Given the description of an element on the screen output the (x, y) to click on. 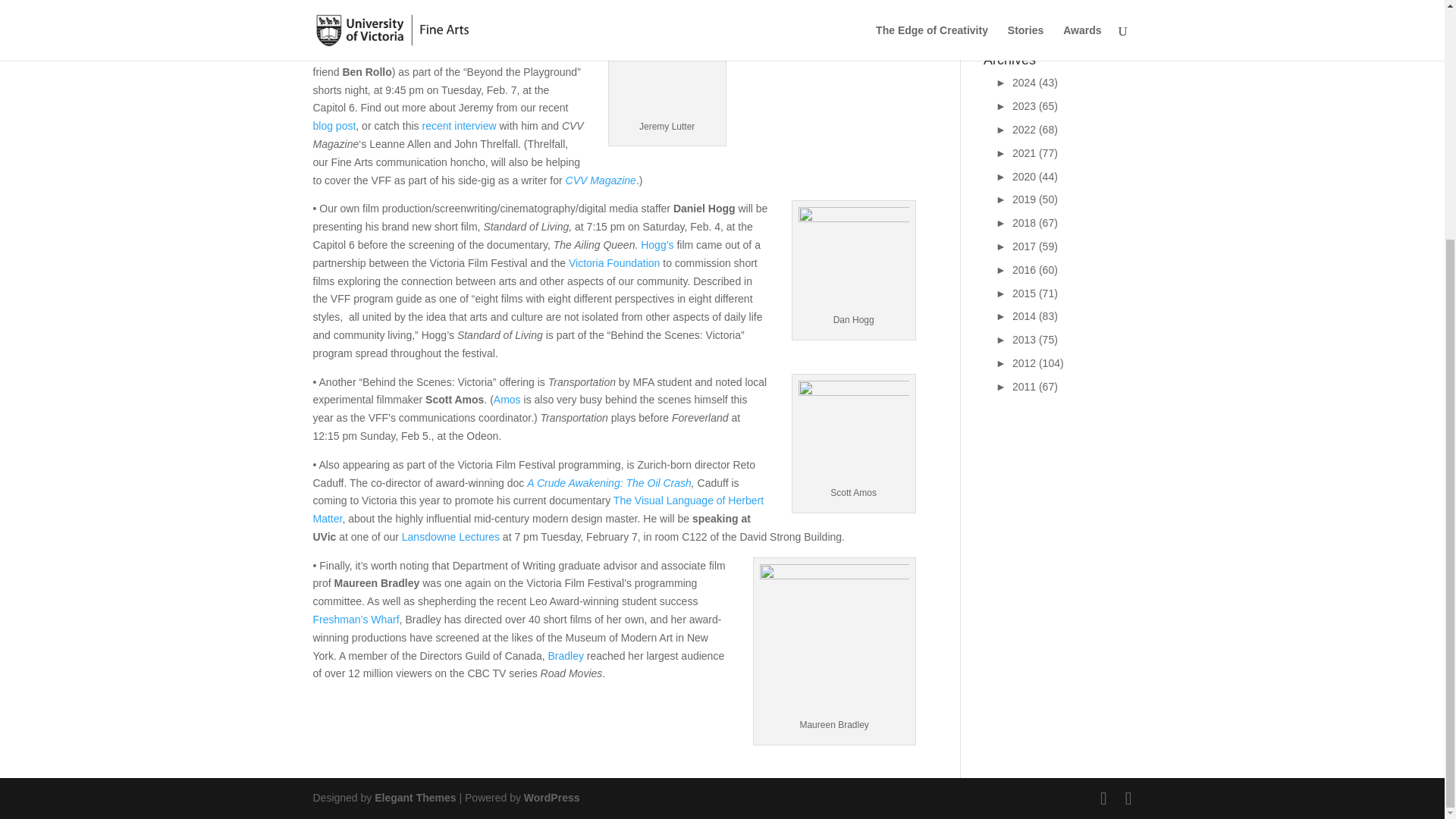
Lansdowne Lectures (448, 536)
hogg (852, 259)
recent interview (457, 125)
Amos (507, 399)
Victoria Foundation (612, 263)
CVV Magazine (601, 180)
A Crude Awakening: The Oil Crash (609, 482)
2024 (1003, 82)
Bradley (565, 655)
blog post (334, 125)
